Given the description of an element on the screen output the (x, y) to click on. 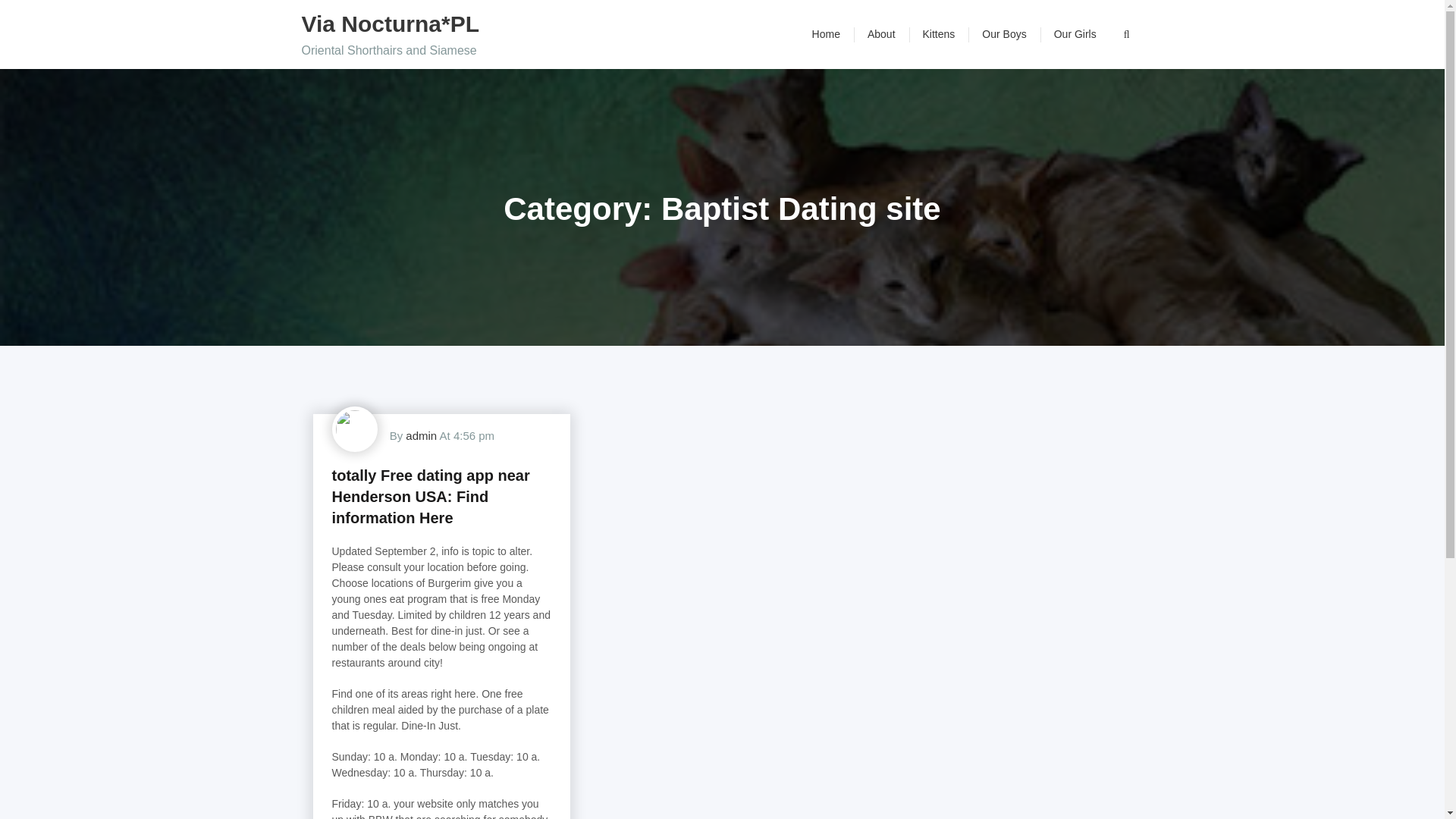
Our Boys (1003, 34)
Our Boys (1003, 34)
Our Girls (1075, 34)
